Given the description of an element on the screen output the (x, y) to click on. 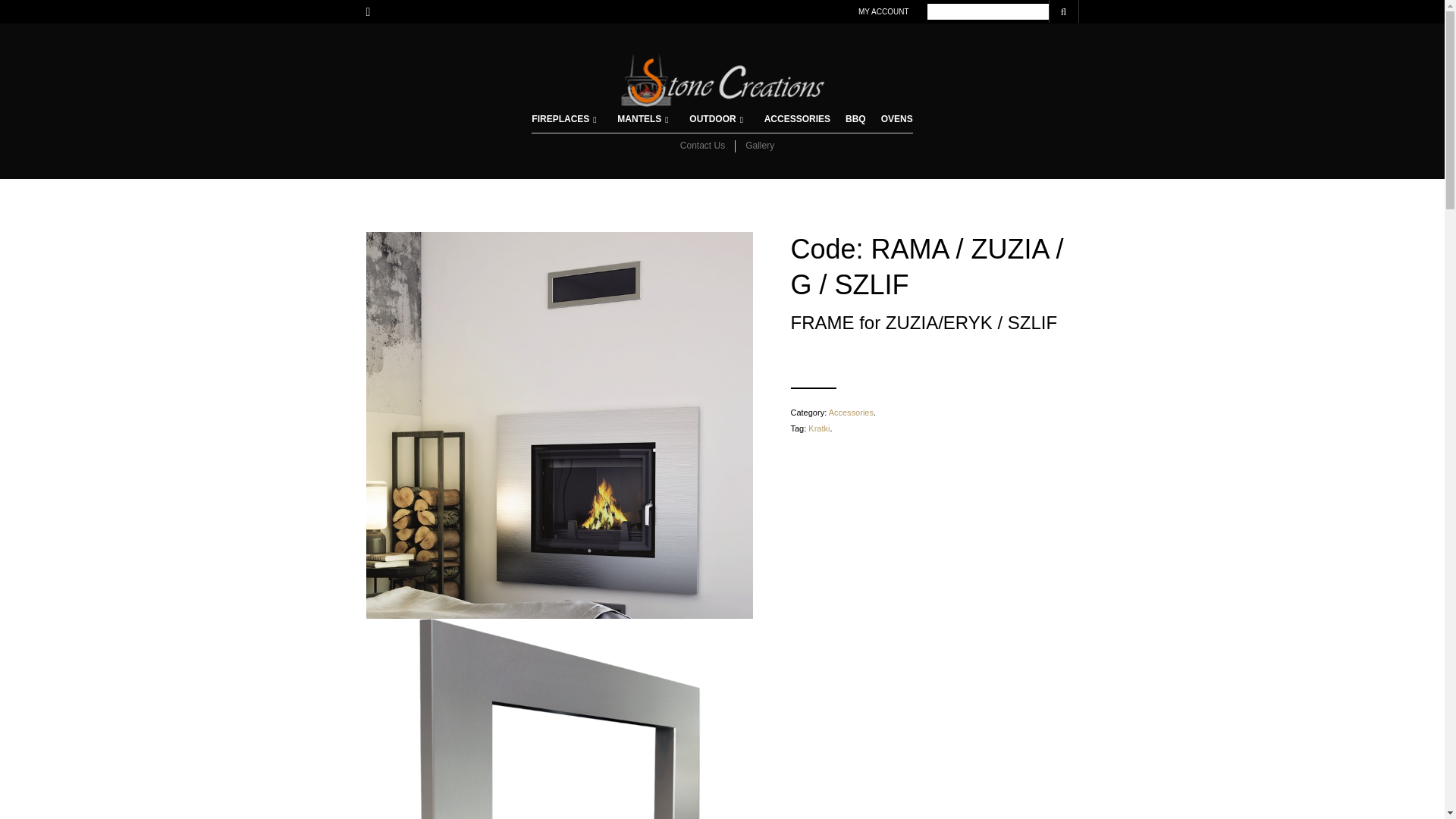
MY ACCOUNT (883, 11)
Gallery (754, 146)
Accessories (850, 411)
ACCESSORIES (797, 119)
Kratki (818, 428)
OUTDOOR (713, 119)
OVENS (896, 119)
Contact Us (702, 146)
MANTELS (641, 119)
FIREPLACES (561, 119)
